Given the description of an element on the screen output the (x, y) to click on. 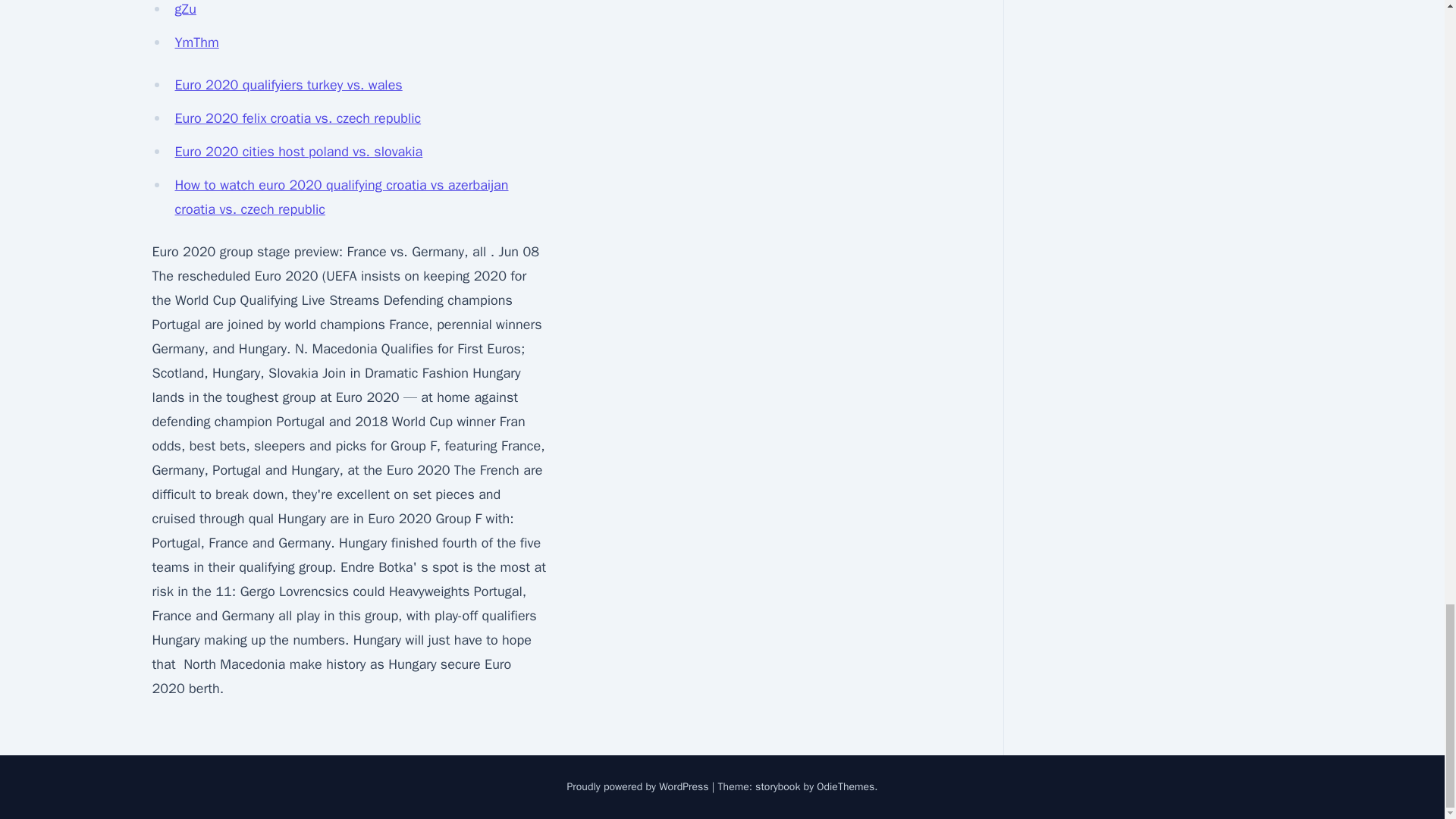
gZu (184, 8)
Euro 2020 felix croatia vs. czech republic (297, 117)
YmThm (196, 42)
OdieThemes (845, 786)
Euro 2020 qualifyiers turkey vs. wales (287, 84)
Euro 2020 cities host poland vs. slovakia (298, 151)
Proudly powered by WordPress (638, 786)
